Given the description of an element on the screen output the (x, y) to click on. 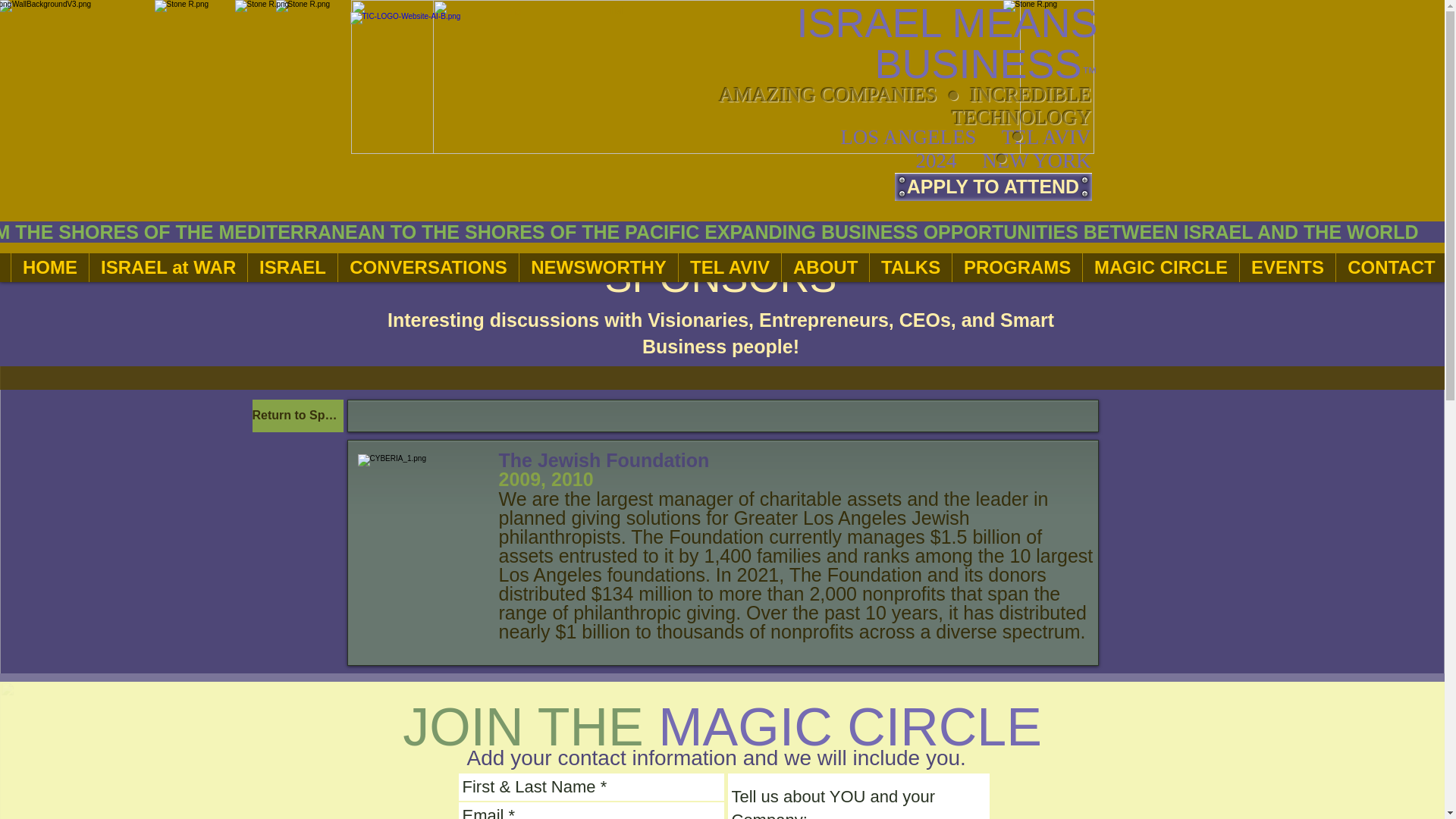
MAGIC CIRCLE (1160, 267)
APPLY TO ATTEND (993, 186)
NEWSWORTHY (598, 267)
CONVERSATIONS (427, 267)
TALKS (910, 267)
The Jewish Community Foundation of Los Angeles.png (422, 516)
PROGRAMS (1016, 267)
ISRAEL (292, 267)
Return to Sponsors (296, 415)
ABOUT (824, 267)
